Given the description of an element on the screen output the (x, y) to click on. 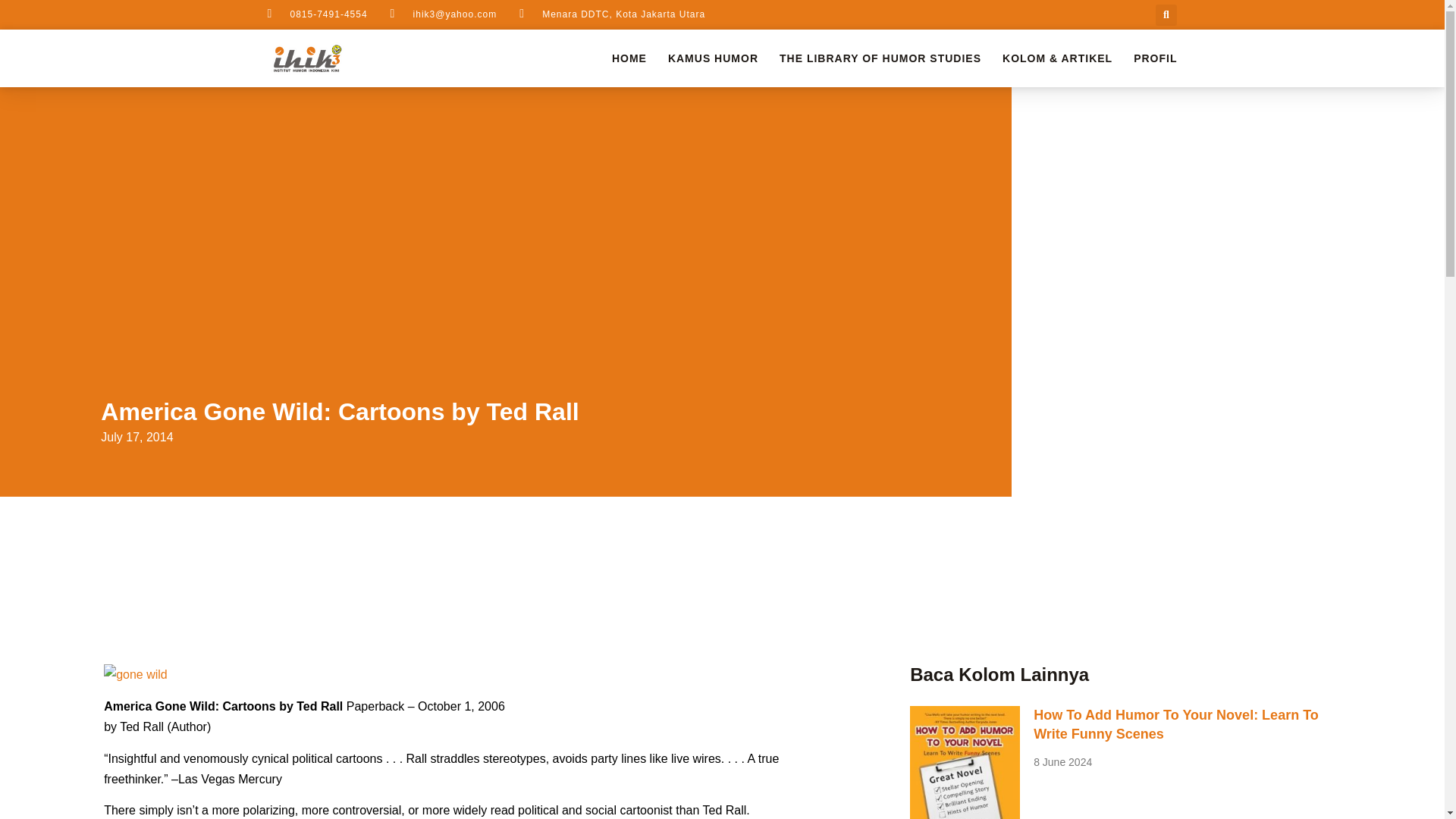
How To Add Humor To Your Novel: Learn To Write Funny Scenes (1176, 724)
HOME (628, 58)
KAMUS HUMOR (713, 58)
0815-7491-4554 (316, 14)
PROFIL (1155, 58)
THE LIBRARY OF HUMOR STUDIES (879, 58)
Menara DDTC, Kota Jakarta Utara (611, 14)
